Given the description of an element on the screen output the (x, y) to click on. 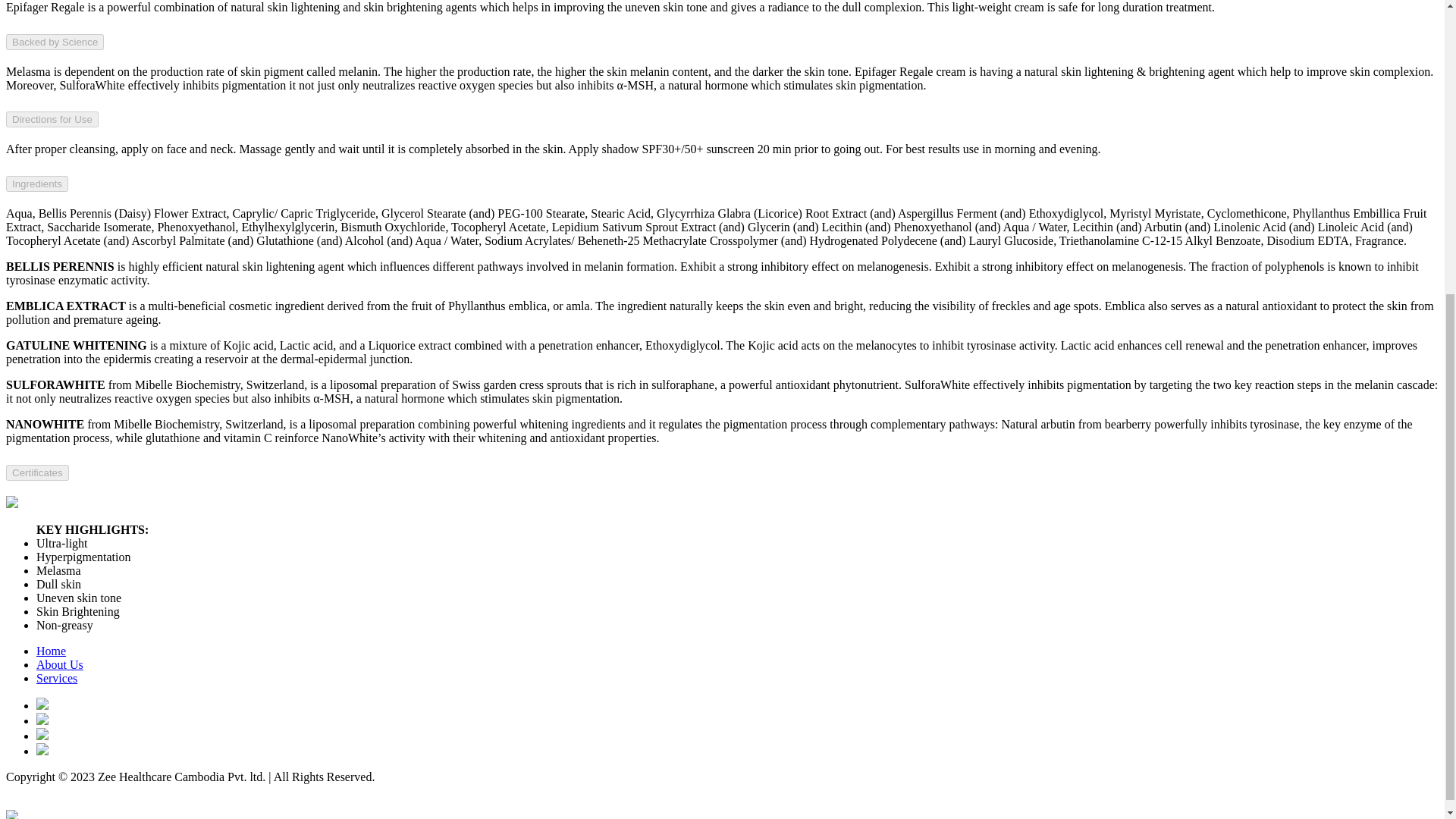
Backed by Science (54, 41)
About Us (59, 664)
Directions for Use (52, 119)
Home (50, 650)
Certificates (36, 472)
Ultra-light (61, 543)
Hyperpigmentation (83, 556)
Dull skin (58, 584)
Ingredients (36, 183)
Non-greasy (64, 625)
Skin Brightening (77, 611)
Uneven skin tone (78, 597)
Melasma (58, 570)
Services (56, 677)
